Given the description of an element on the screen output the (x, y) to click on. 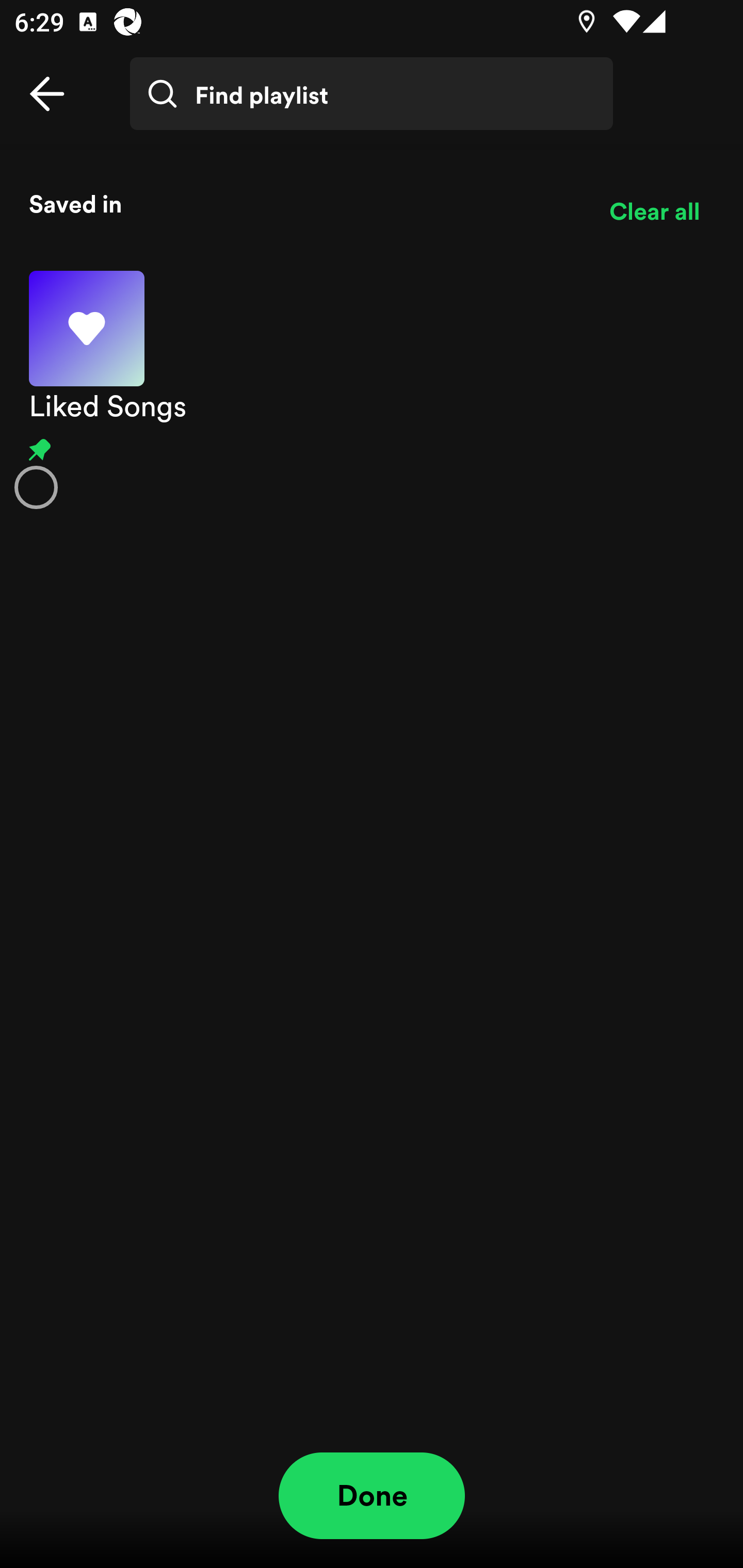
Back (46, 93)
Find playlist (371, 94)
Clear Find playlist (666, 108)
Saved in (304, 203)
Clear all (654, 211)
Liked Songs Pinned (371, 389)
Done (371, 1495)
